Given the description of an element on the screen output the (x, y) to click on. 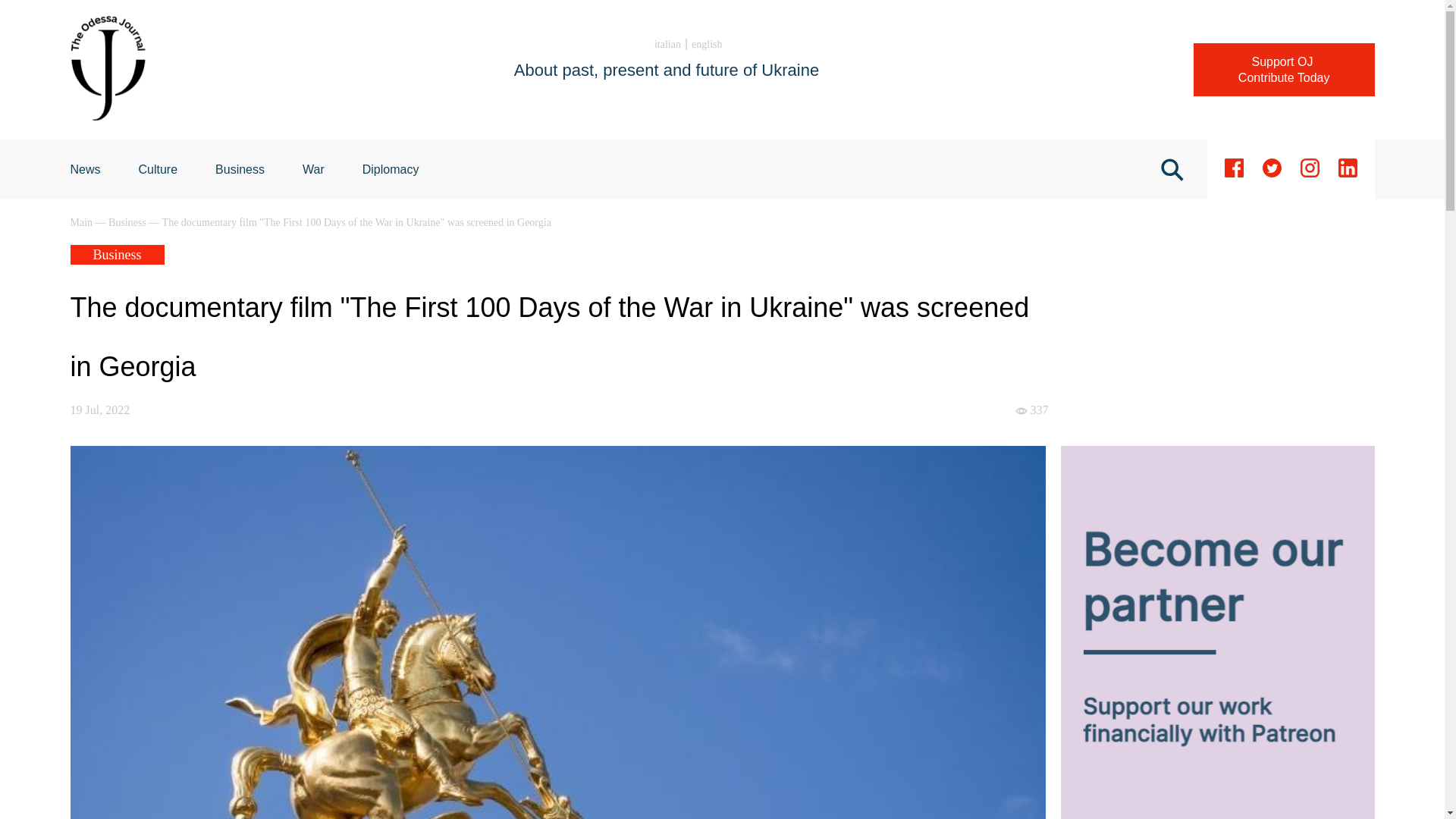
Business (239, 169)
Facebook (1233, 169)
Business (1283, 69)
italian (239, 169)
LinkedIn (667, 43)
News (1347, 169)
english (84, 169)
Diplomacy (706, 43)
News (390, 169)
Culture (84, 169)
Instgram (157, 169)
Twitter (1309, 169)
Support (1271, 169)
Main  (1283, 69)
